Given the description of an element on the screen output the (x, y) to click on. 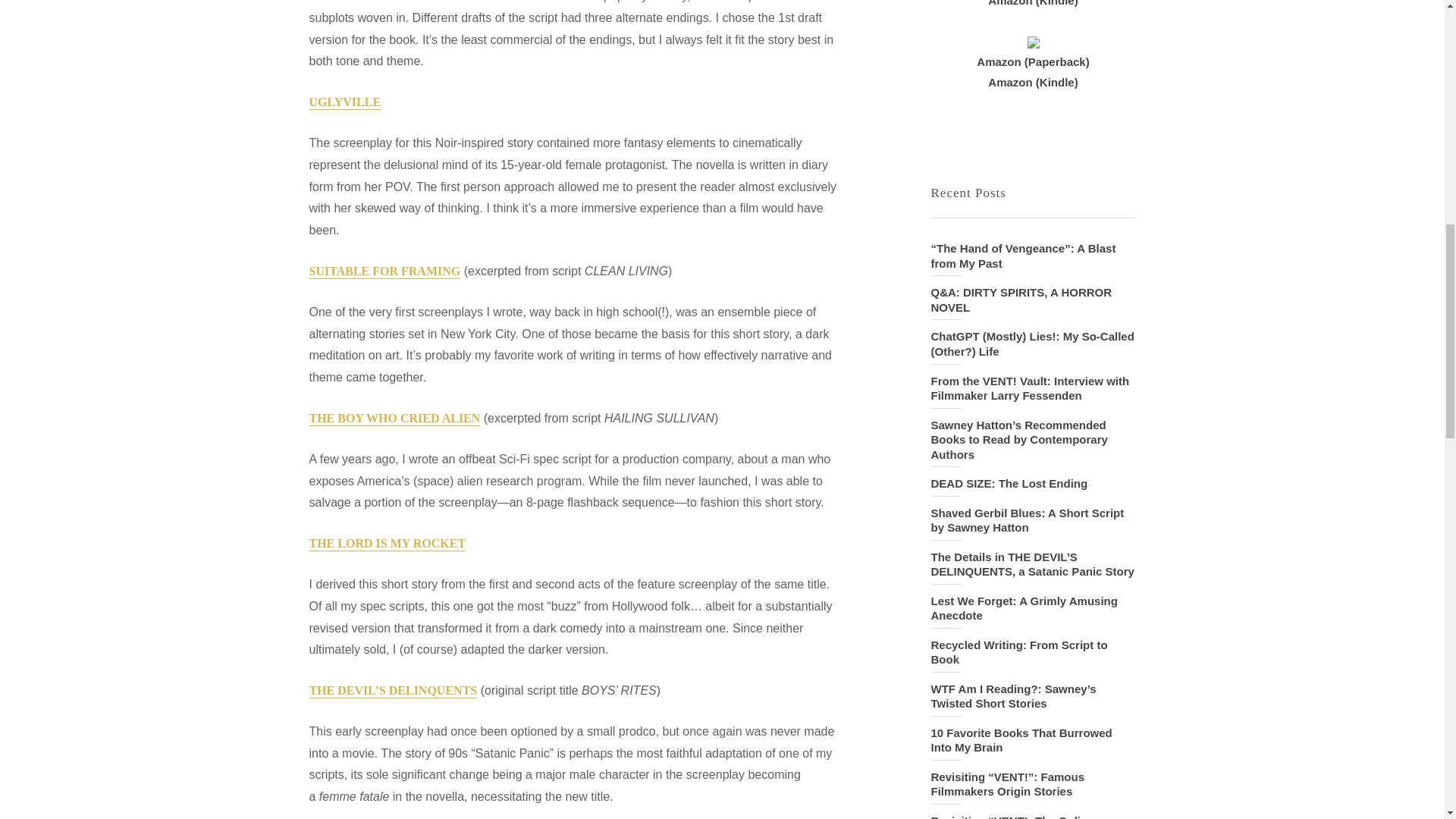
THE BOY WHO CRIED ALIEN (394, 418)
SUITABLE FOR FRAMING (384, 271)
THE LORD IS MY ROCKET (386, 544)
UGLYVILLE (344, 102)
